Given the description of an element on the screen output the (x, y) to click on. 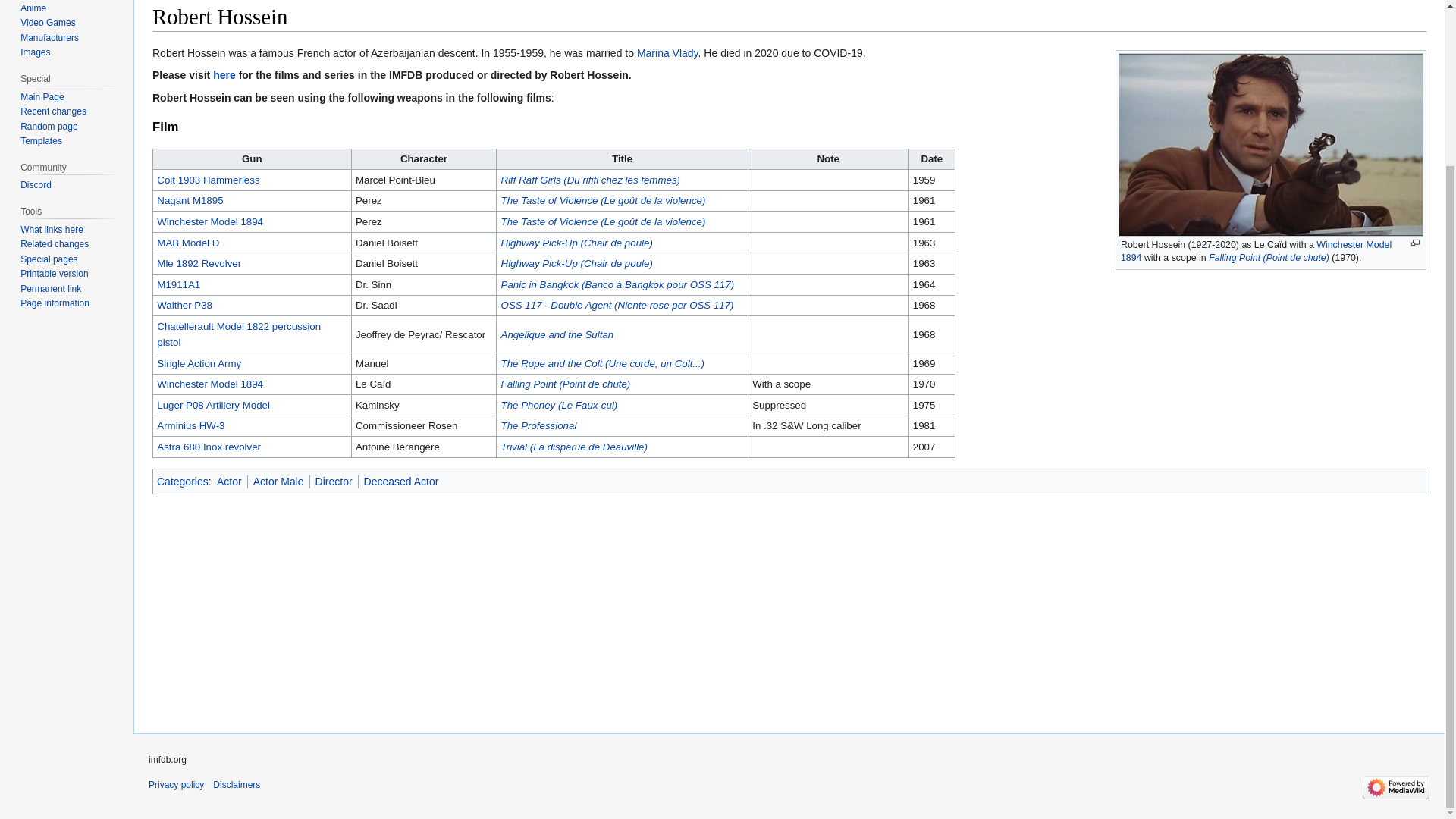
M1911A1 (178, 284)
Winchester Model 1894 (210, 221)
Chatellerault Model 1822 percussion pistol (238, 334)
M1911A1 (178, 284)
The Professional (538, 425)
Marina Vlady (667, 52)
Categories (182, 481)
MAB Model D (188, 242)
Winchester Model 1894 (1256, 250)
